Given the description of an element on the screen output the (x, y) to click on. 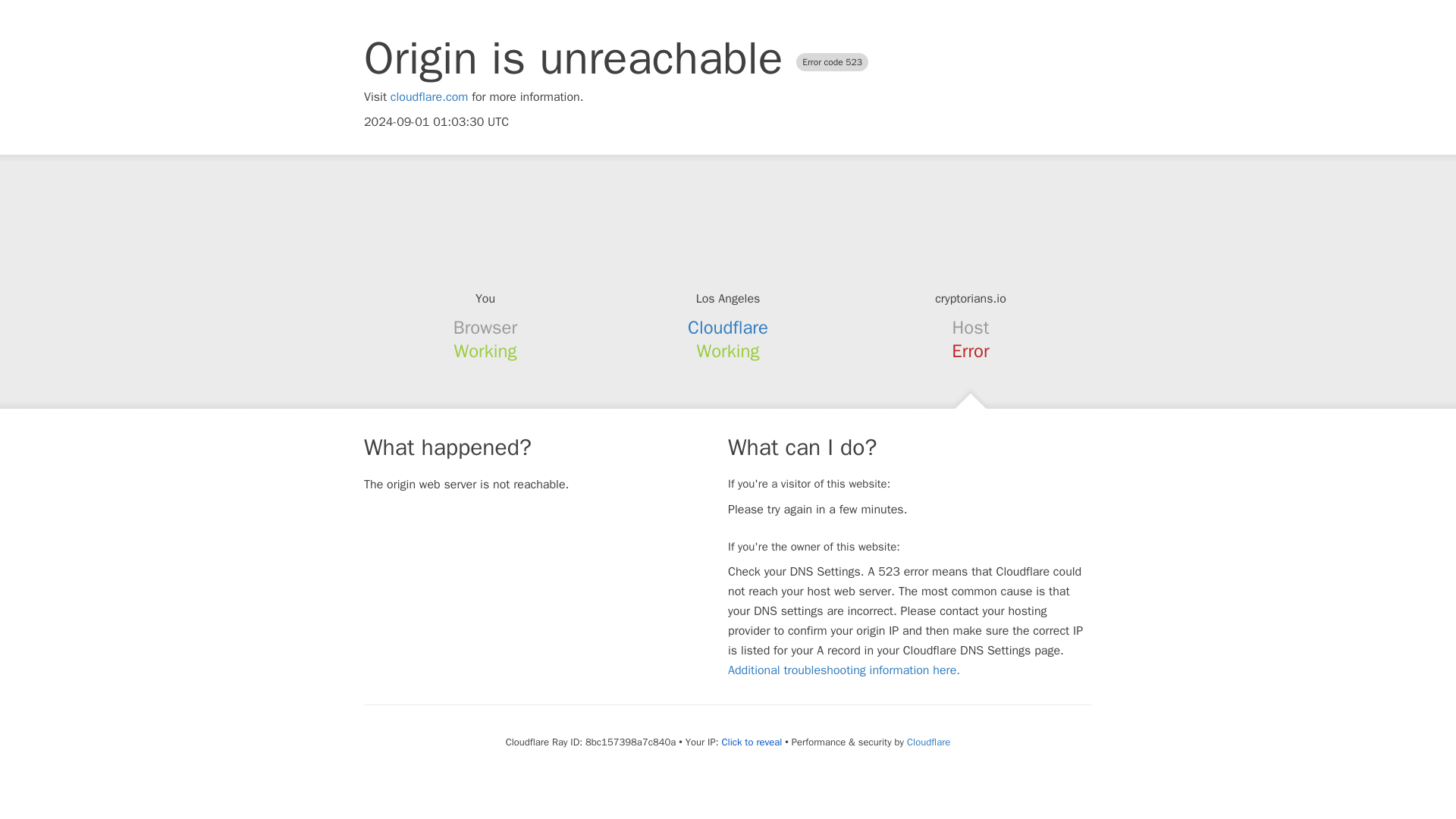
Cloudflare (928, 741)
Click to reveal (750, 742)
Additional troubleshooting information here. (843, 670)
cloudflare.com (429, 96)
Cloudflare (727, 327)
